Given the description of an element on the screen output the (x, y) to click on. 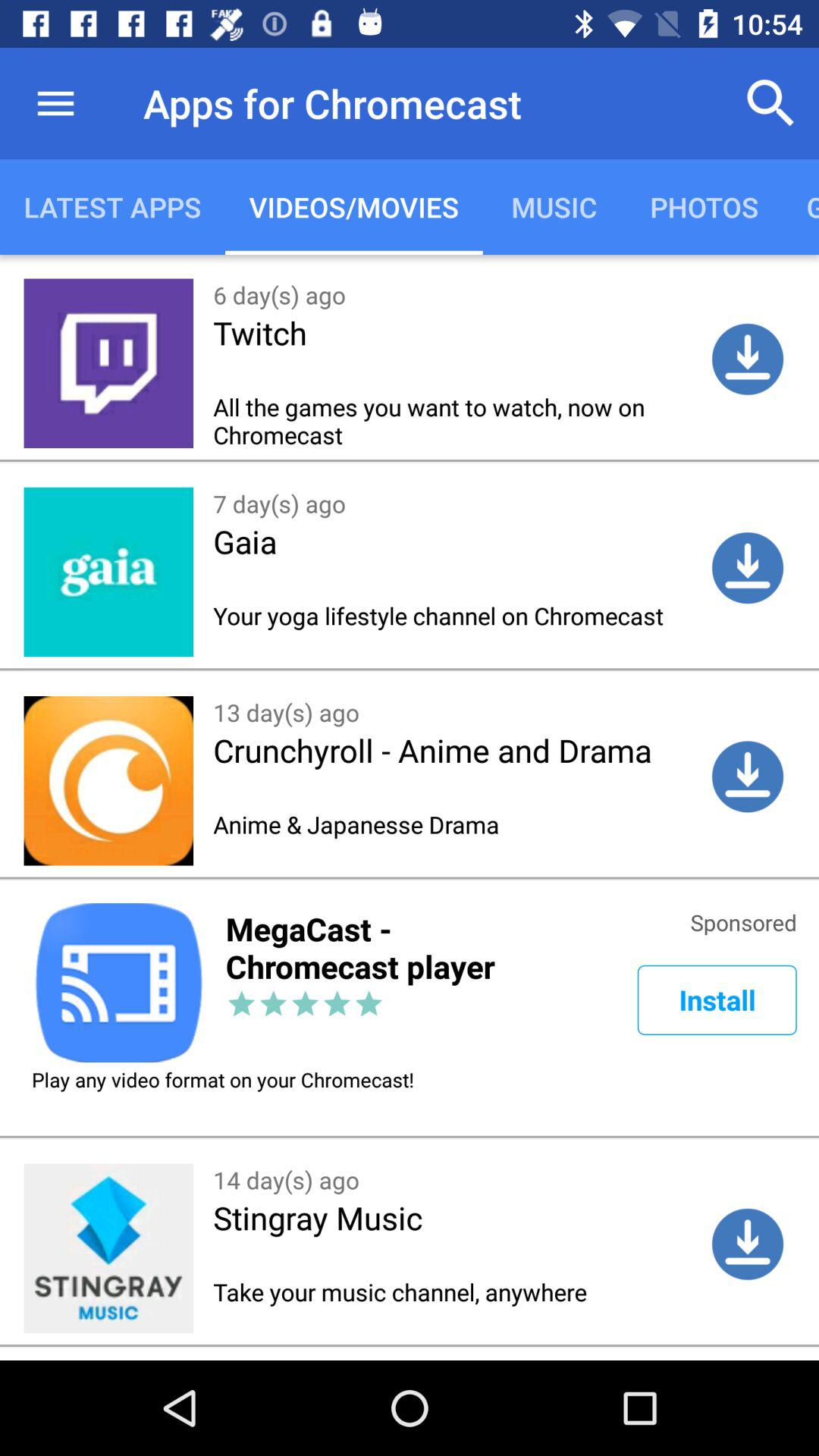
click on the second download icon which is next to gaia (747, 567)
select search button (771, 103)
click the button above sponsored (747, 776)
